Given the description of an element on the screen output the (x, y) to click on. 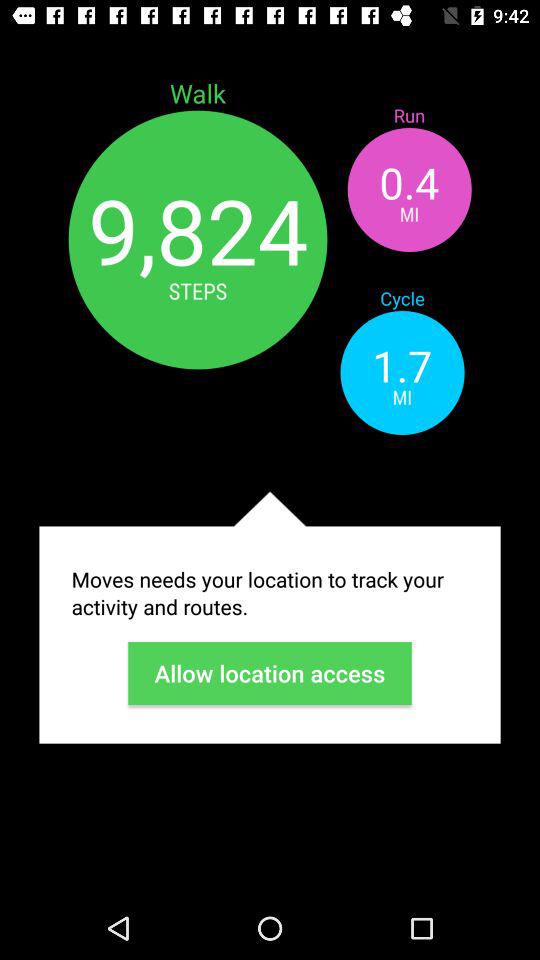
swipe to the allow location access icon (269, 673)
